Given the description of an element on the screen output the (x, y) to click on. 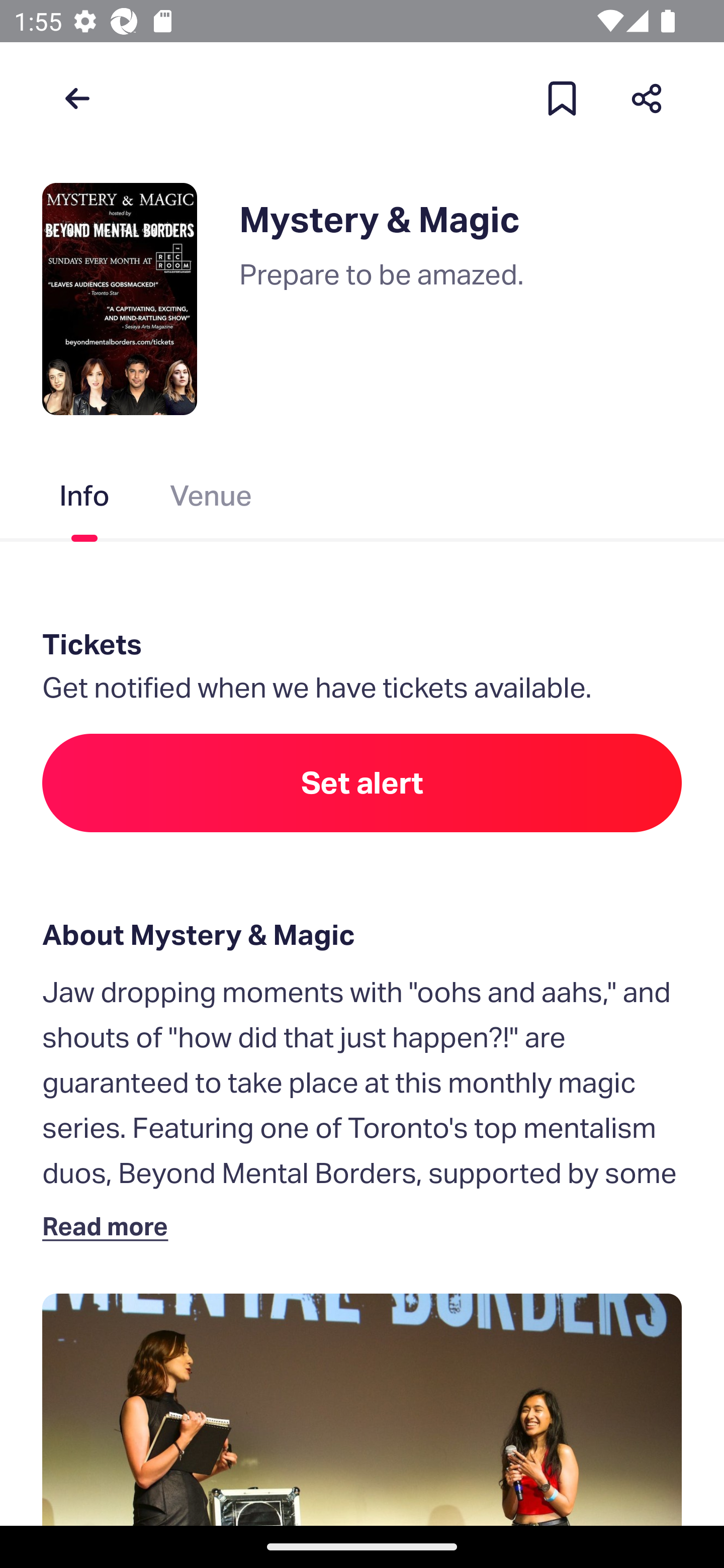
Venue (210, 499)
Set alert (361, 782)
About Mystery & Magic (361, 935)
Read more (109, 1225)
